Given the description of an element on the screen output the (x, y) to click on. 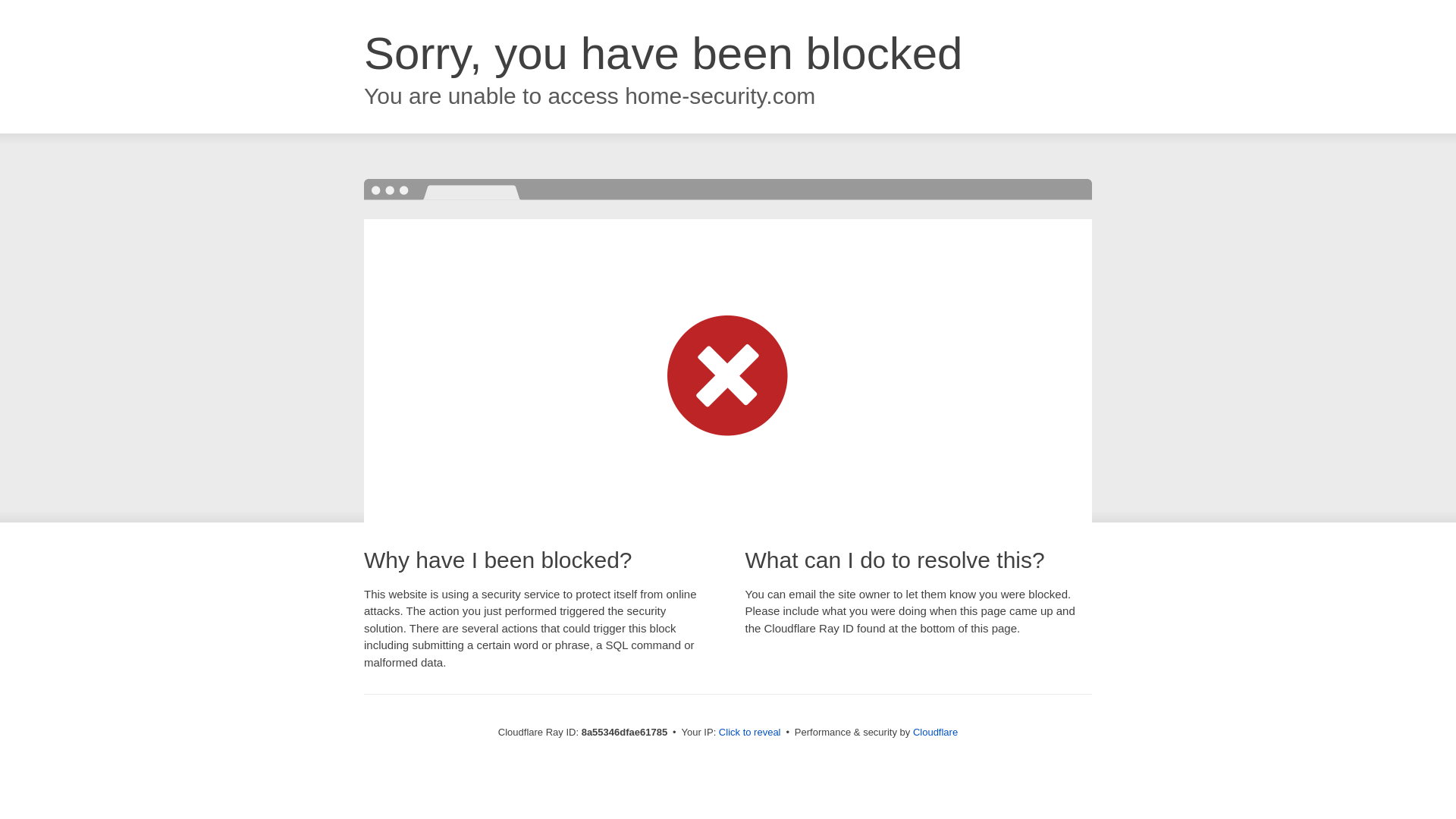
Click to reveal (749, 732)
Cloudflare (935, 731)
